Given the description of an element on the screen output the (x, y) to click on. 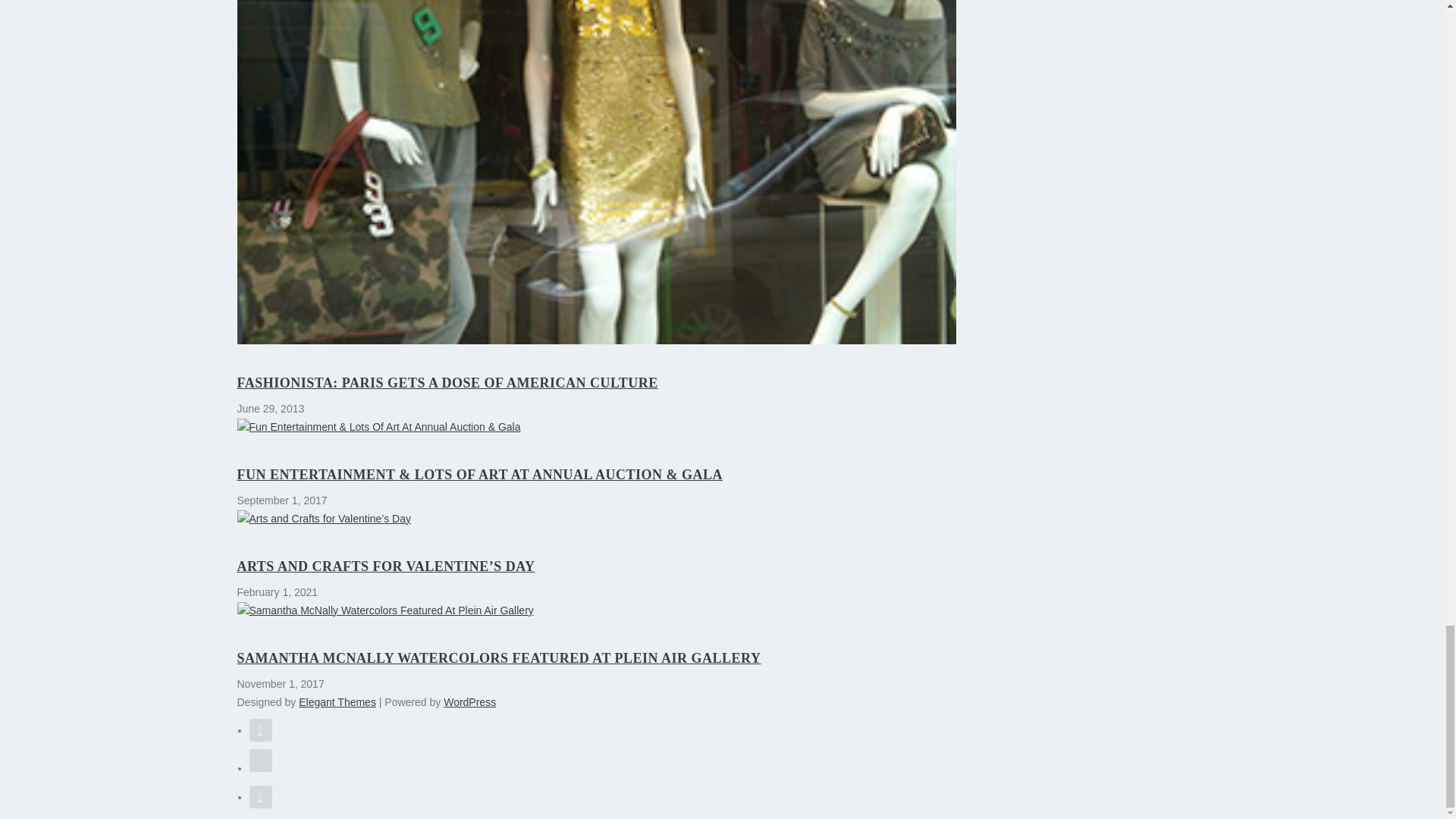
Premium WordPress Themes (336, 702)
Samantha McNally Watercolors Featured At Plein Air Gallery (595, 610)
